Given the description of an element on the screen output the (x, y) to click on. 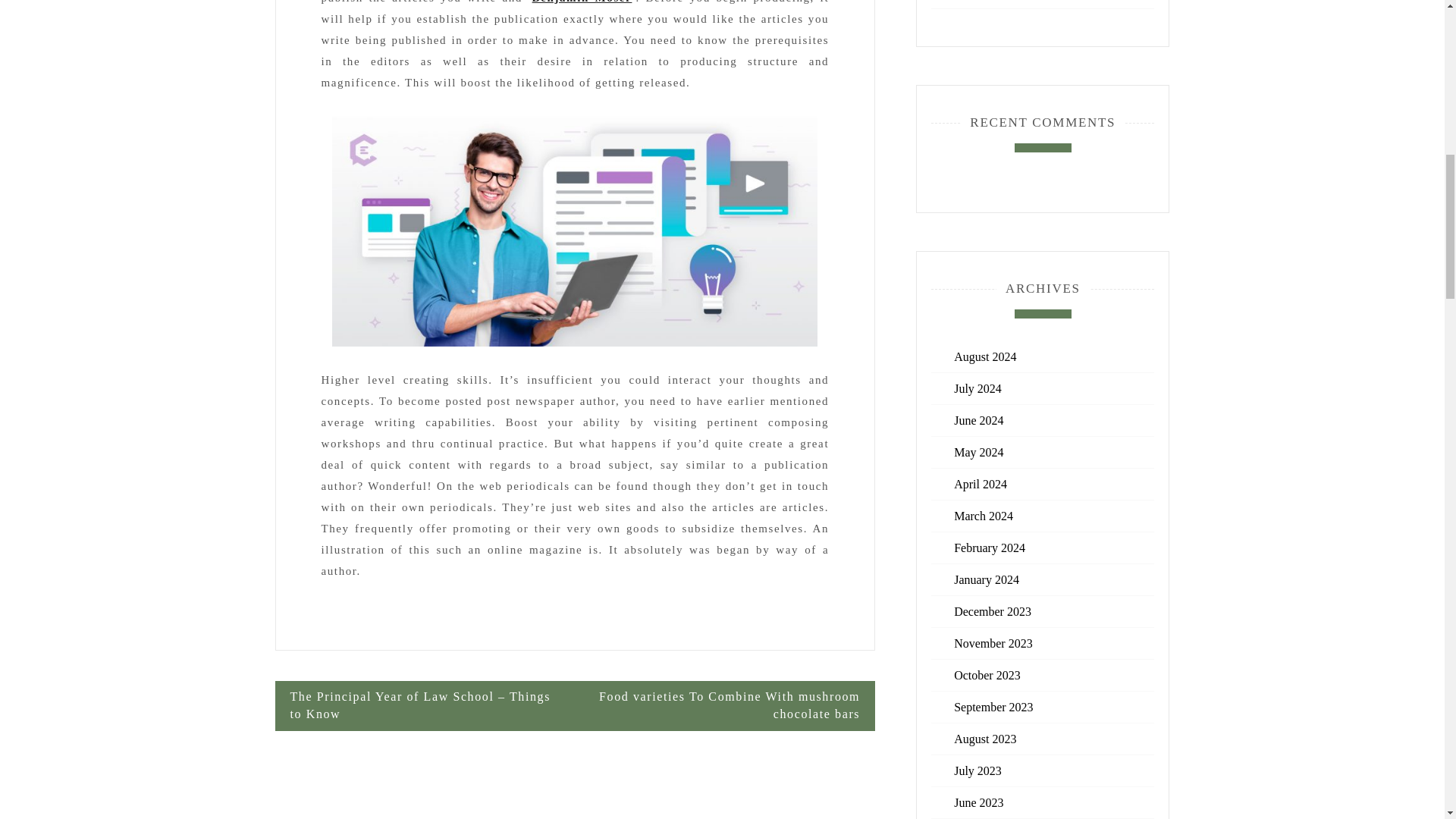
June 2024 (978, 420)
Food varieties To Combine With mushroom chocolate bars (725, 705)
November 2023 (992, 643)
July 2024 (977, 388)
March 2024 (983, 515)
April 2024 (980, 483)
August 2024 (984, 356)
October 2023 (986, 675)
September 2023 (992, 707)
January 2024 (986, 579)
